Given the description of an element on the screen output the (x, y) to click on. 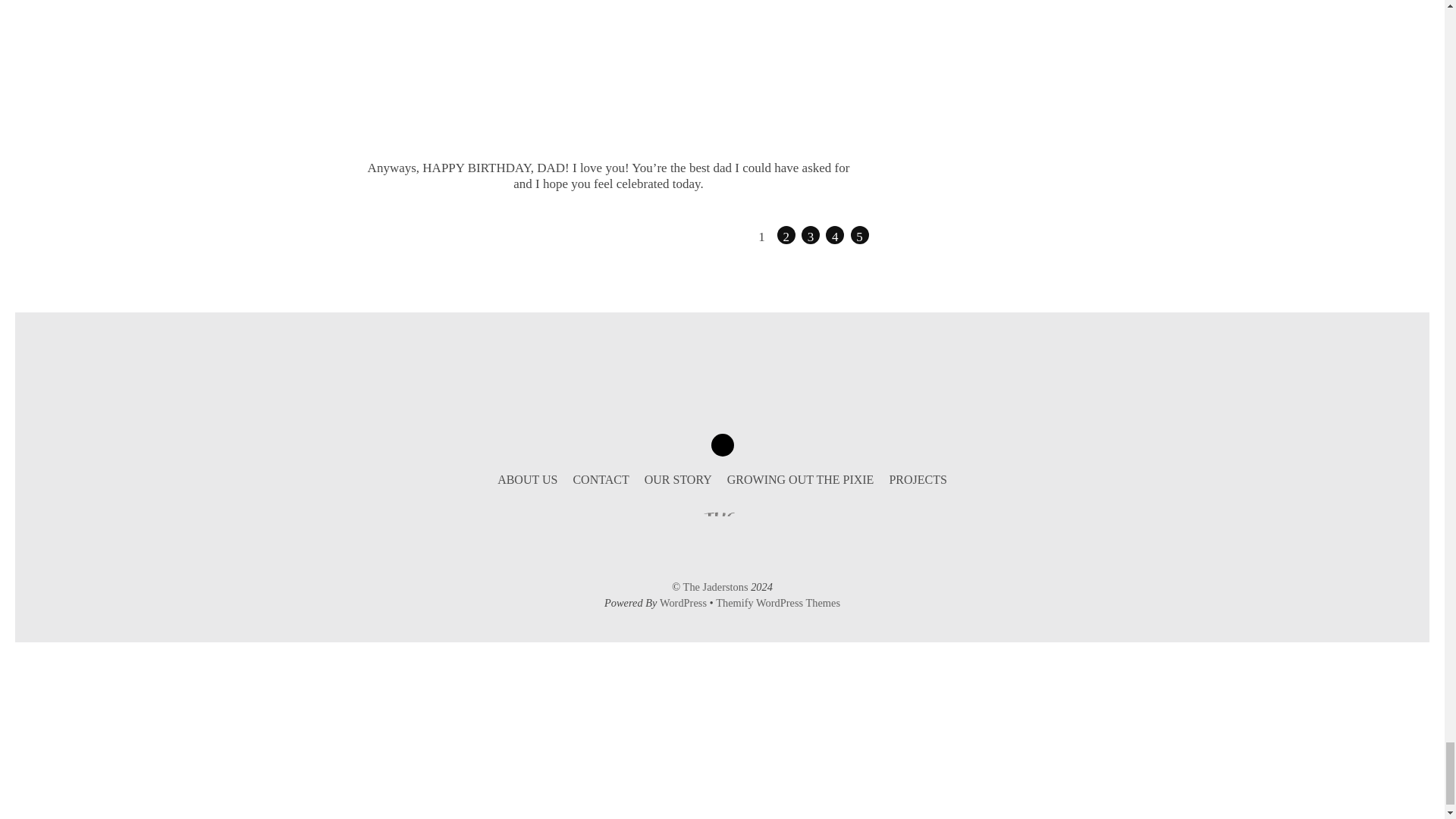
5 (859, 235)
2 (785, 235)
3 (810, 235)
4 (834, 235)
